Given the description of an element on the screen output the (x, y) to click on. 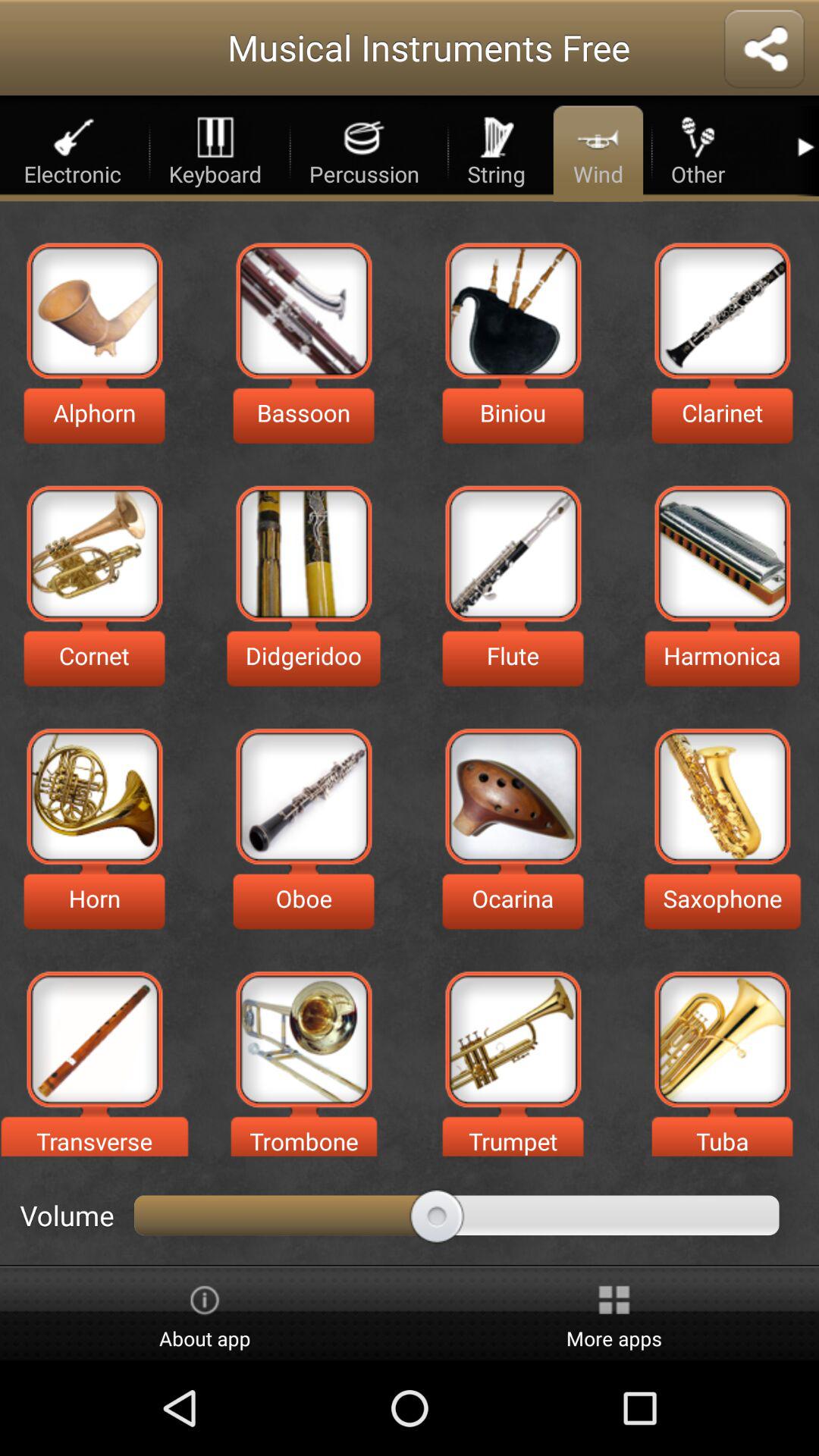
click to flute option (513, 553)
